Given the description of an element on the screen output the (x, y) to click on. 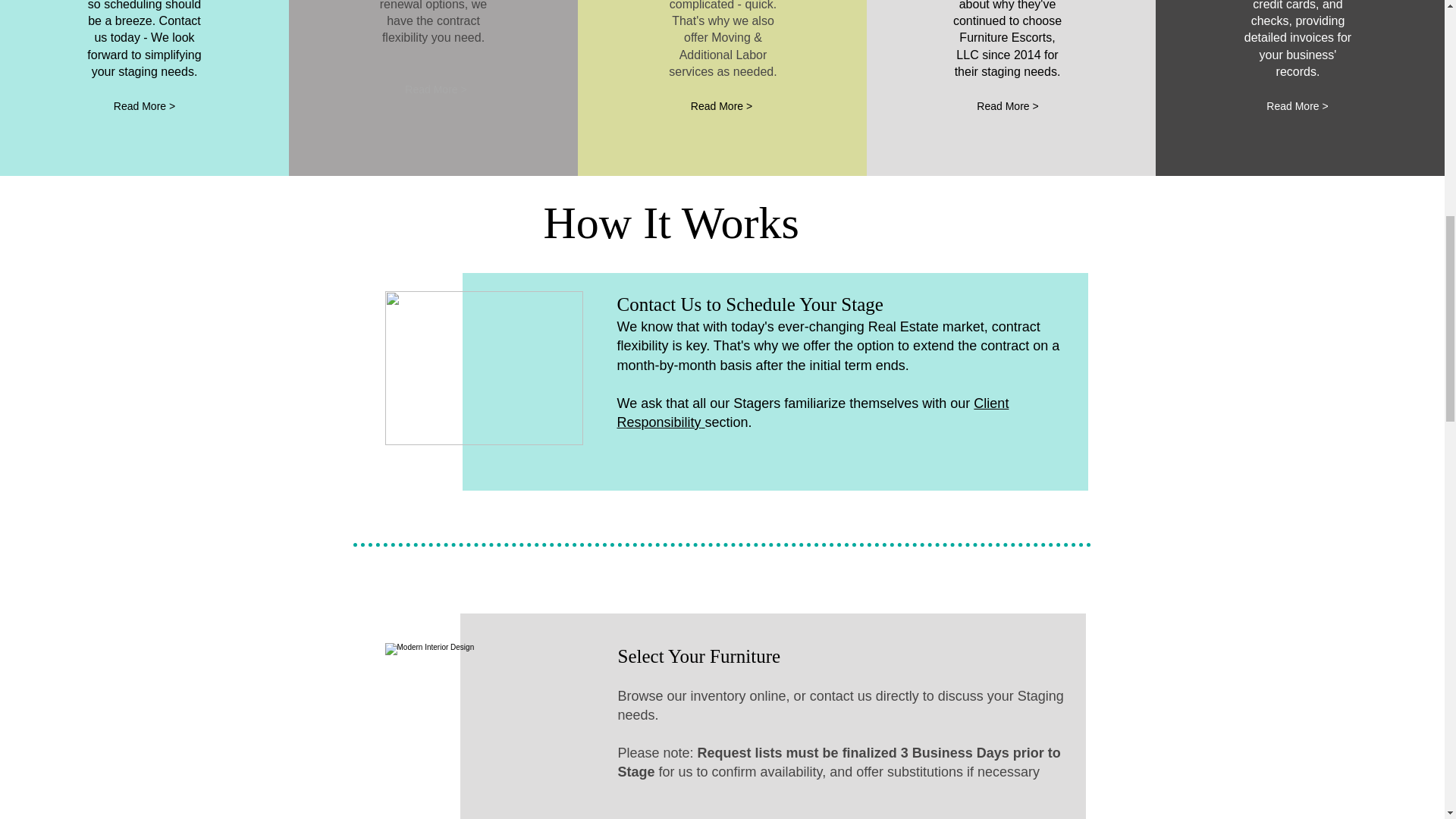
Client Responsibility (813, 412)
